Given the description of an element on the screen output the (x, y) to click on. 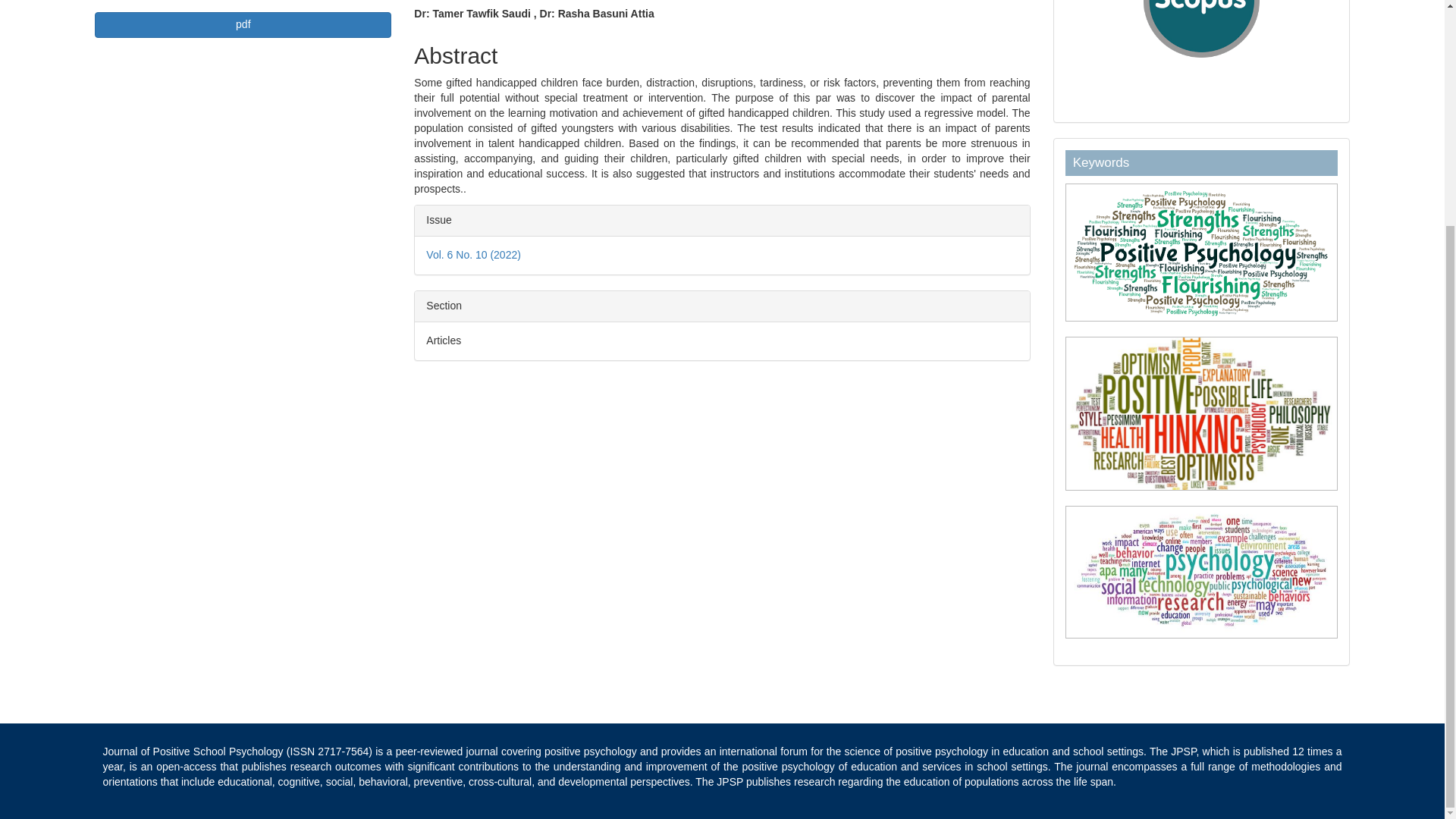
pdf (242, 24)
